Given the description of an element on the screen output the (x, y) to click on. 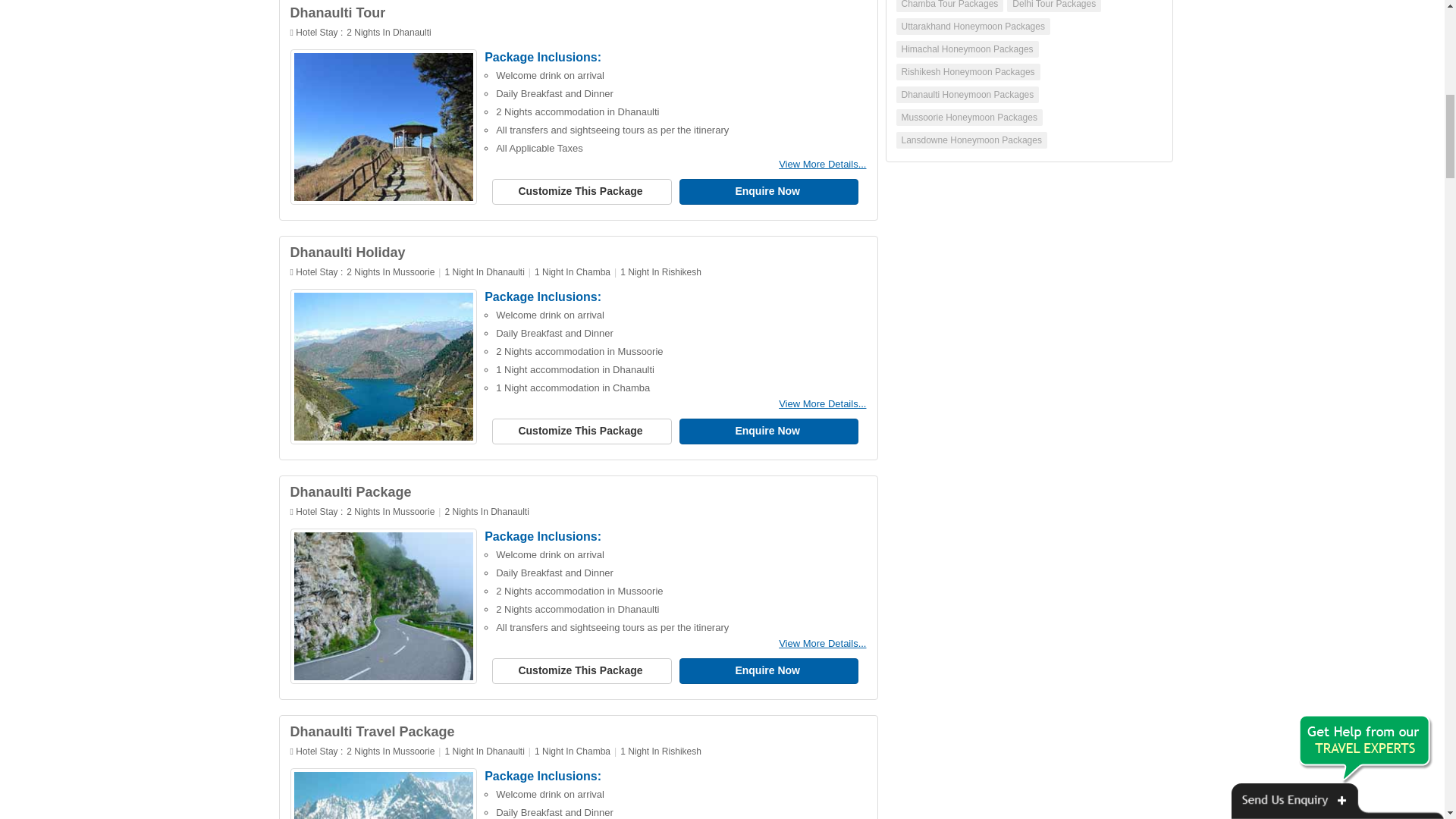
Customize This Package (581, 431)
Enquire Now (769, 431)
Customize This Package (581, 191)
Dhanaulti Travel Package (371, 731)
Customize This Package (581, 670)
Dhanaulti Package (349, 491)
View More Details... (822, 403)
Dhanaulti Holiday (346, 252)
View More Details... (822, 643)
Dhanaulti Tour (337, 12)
Enquire Now (769, 670)
View More Details... (822, 163)
Enquire Now (769, 191)
